Given the description of an element on the screen output the (x, y) to click on. 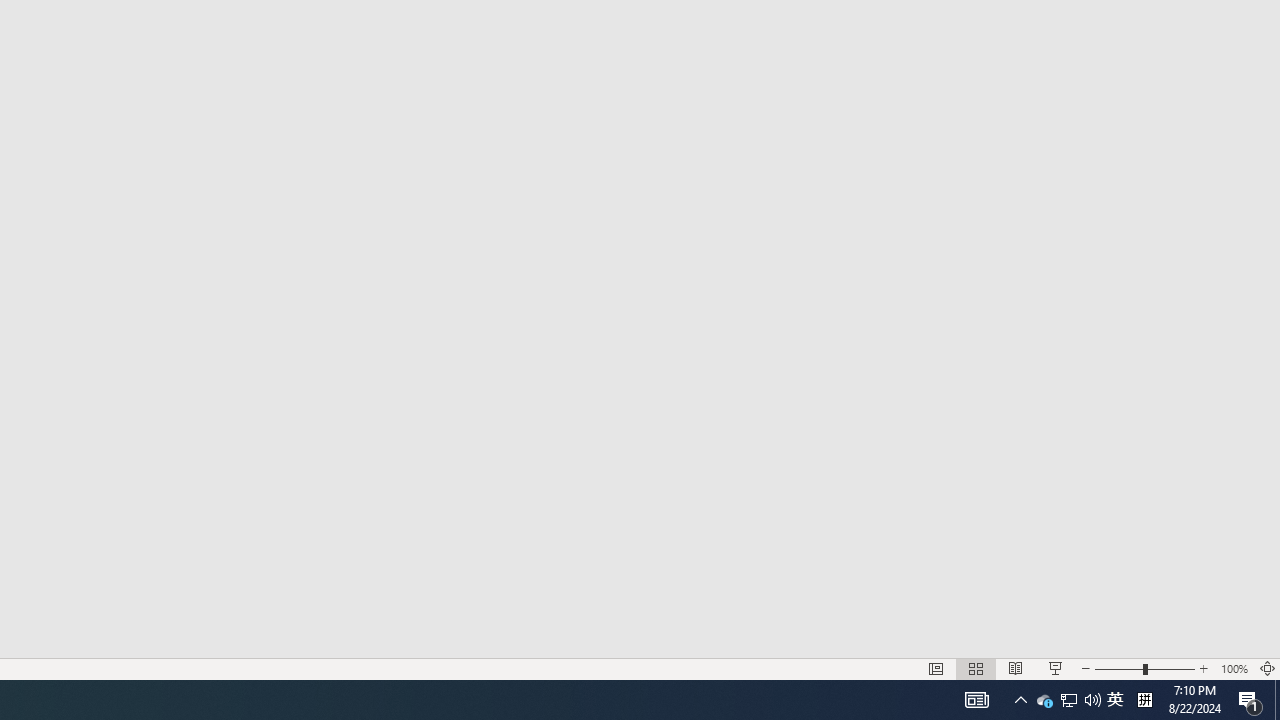
Zoom 100% (1234, 668)
